Given the description of an element on the screen output the (x, y) to click on. 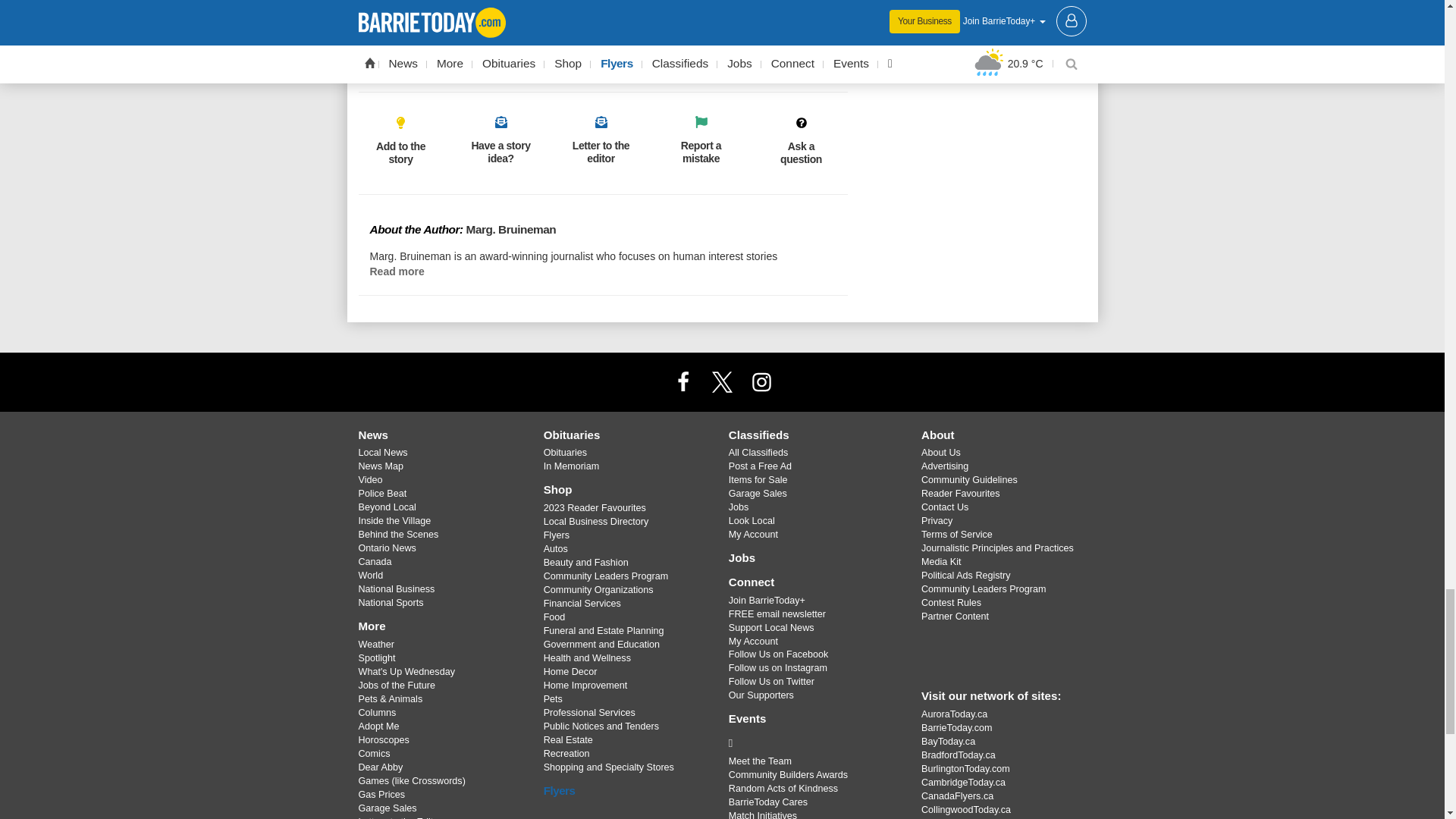
BarrieToday Cares (813, 742)
Instagram (760, 380)
X (721, 380)
Facebook (683, 380)
